Given the description of an element on the screen output the (x, y) to click on. 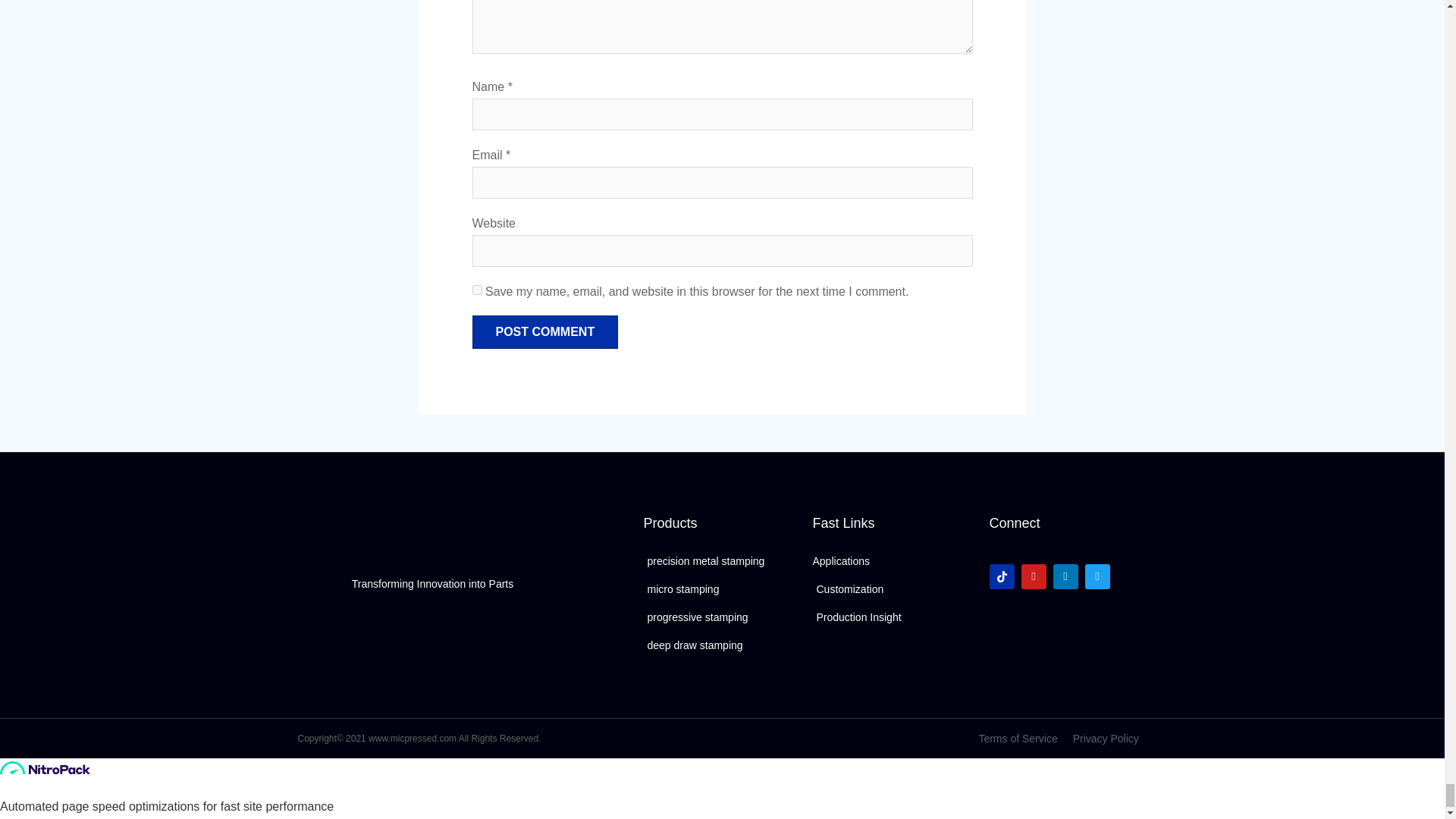
Post Comment (544, 331)
yes (476, 289)
